Given the description of an element on the screen output the (x, y) to click on. 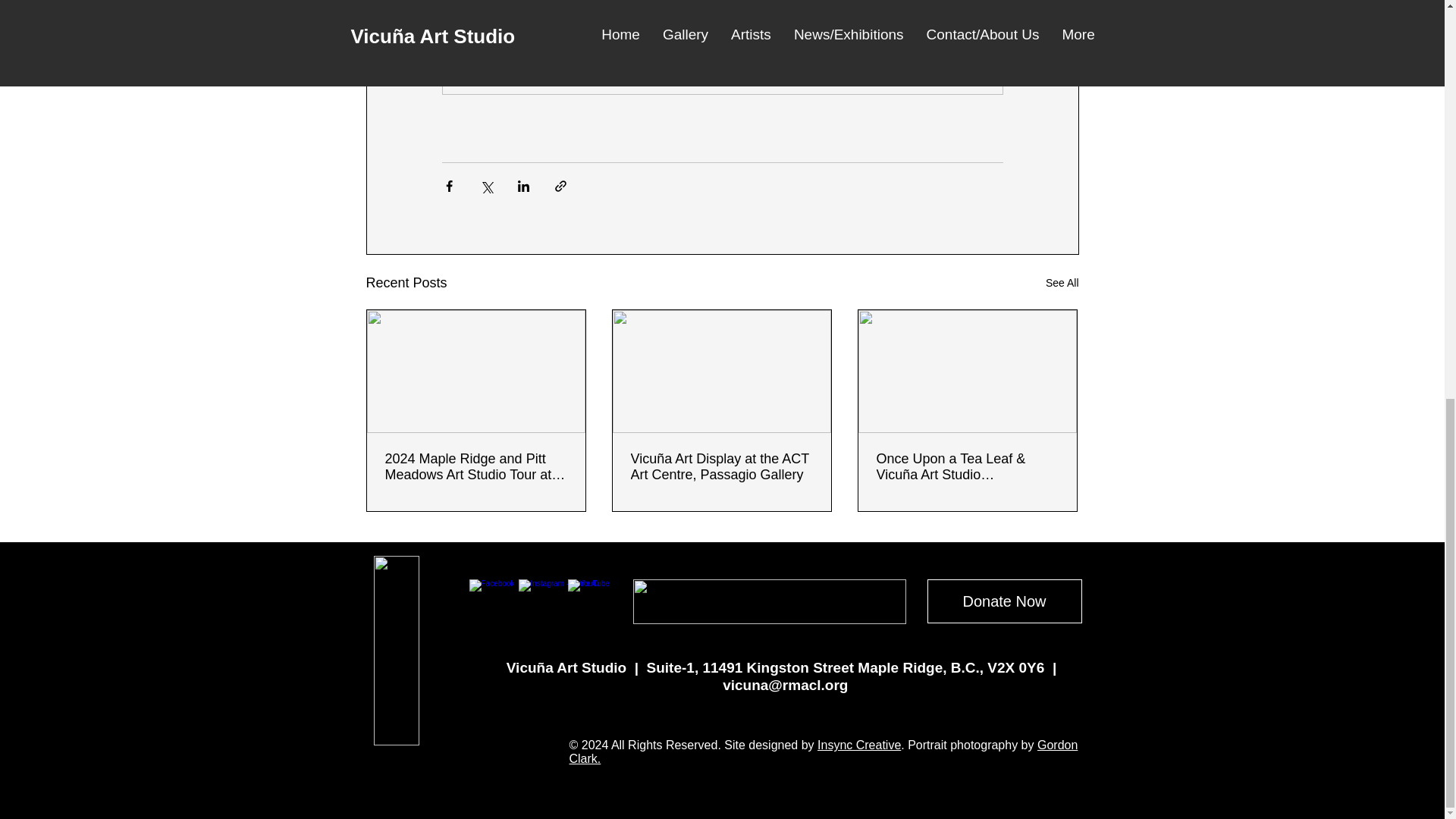
See All (1061, 282)
Donate Now (1003, 601)
Insync Creative (858, 744)
Gordon Clark. (823, 751)
